Given the description of an element on the screen output the (x, y) to click on. 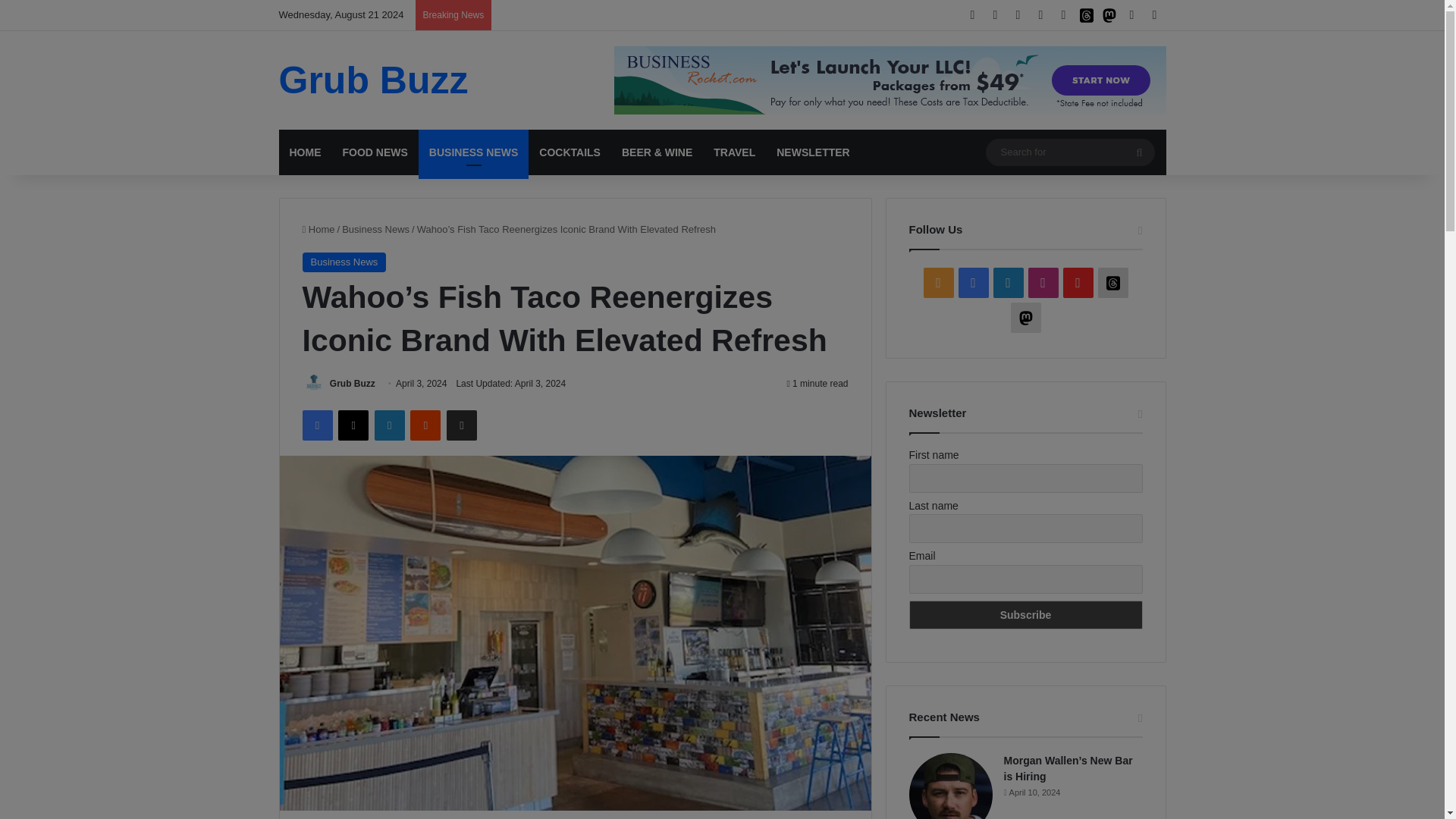
Business News (375, 229)
BUSINESS NEWS (473, 152)
Share via Email (461, 425)
TRAVEL (734, 152)
LinkedIn (389, 425)
Home (317, 229)
Subscribe (1025, 614)
LinkedIn (389, 425)
Grub Buzz (373, 80)
Grub Buzz (373, 80)
